Given the description of an element on the screen output the (x, y) to click on. 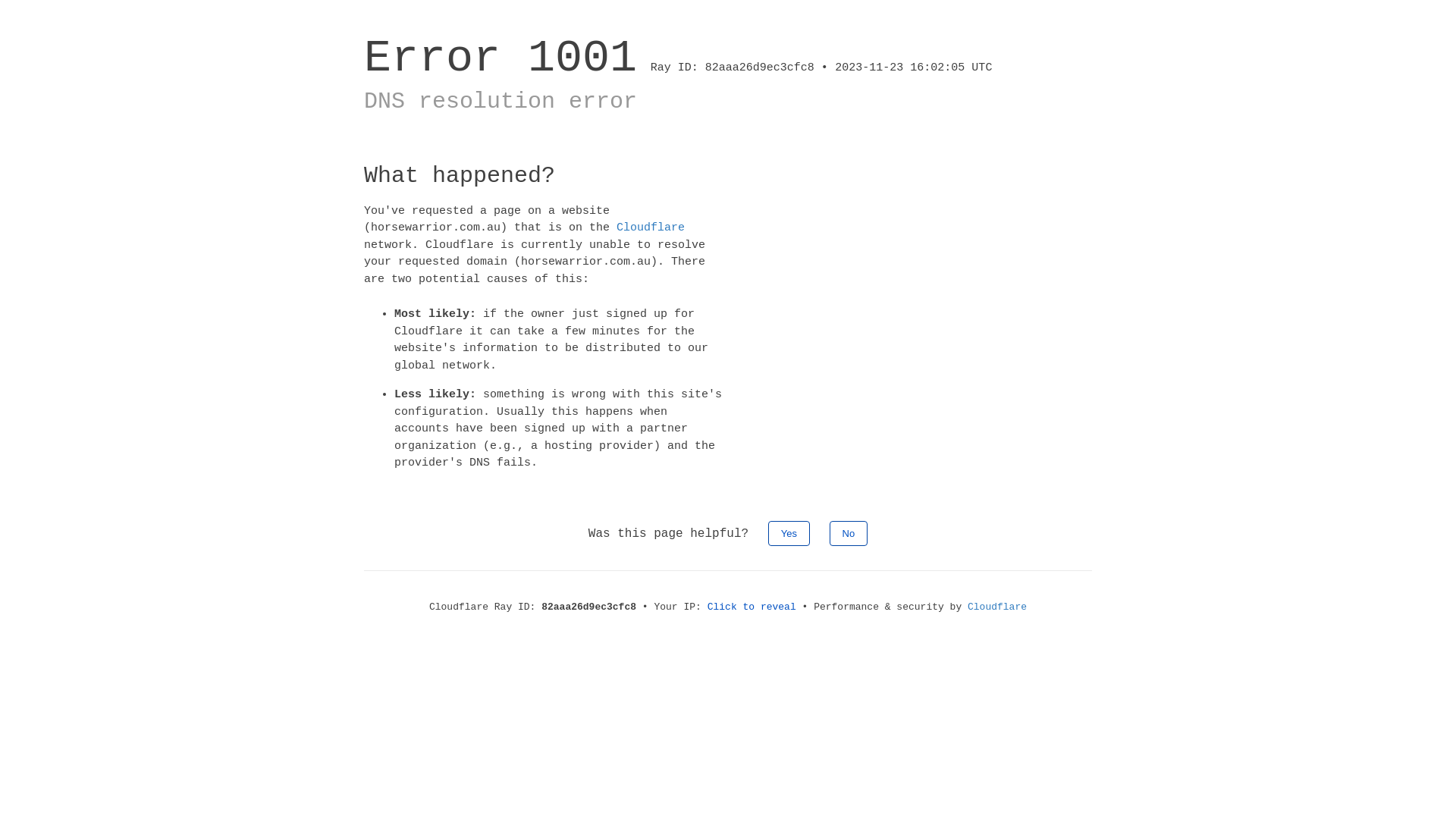
Click to reveal Element type: text (751, 605)
Cloudflare Element type: text (996, 605)
No Element type: text (848, 532)
Yes Element type: text (788, 532)
Cloudflare Element type: text (650, 227)
